Given the description of an element on the screen output the (x, y) to click on. 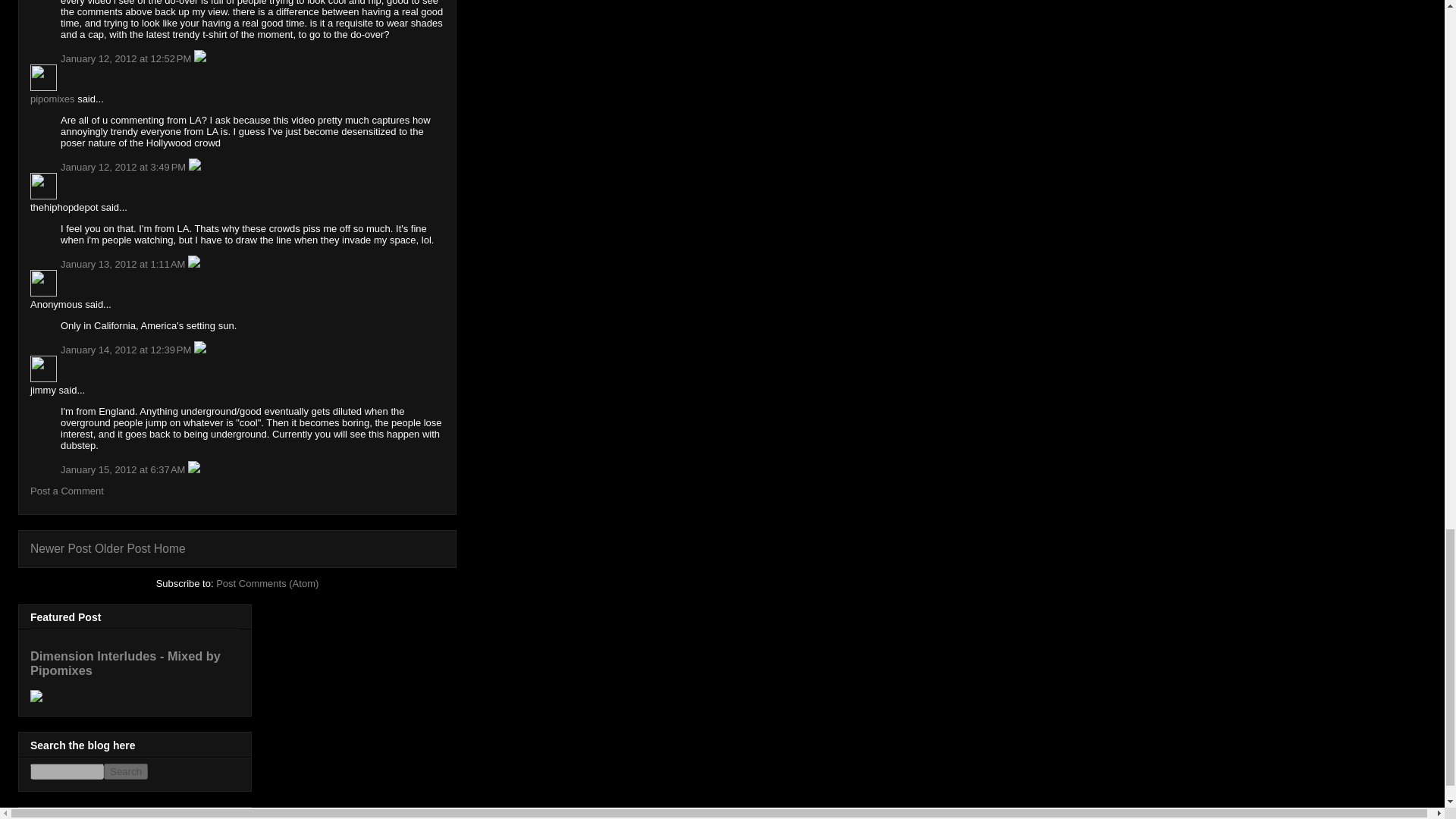
Search (125, 771)
Search (125, 771)
